Given the description of an element on the screen output the (x, y) to click on. 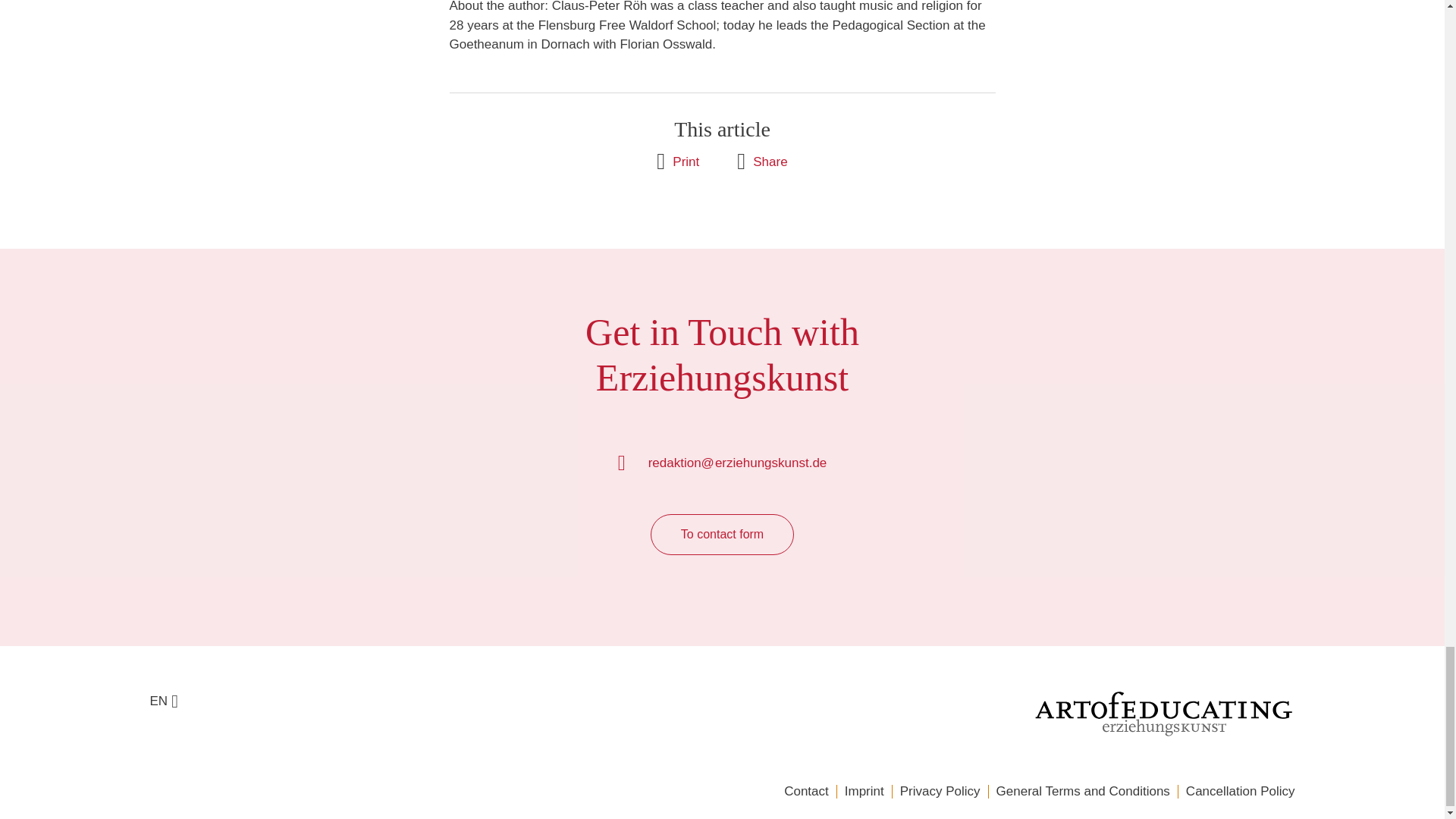
Share (761, 160)
Print (677, 160)
